Given the description of an element on the screen output the (x, y) to click on. 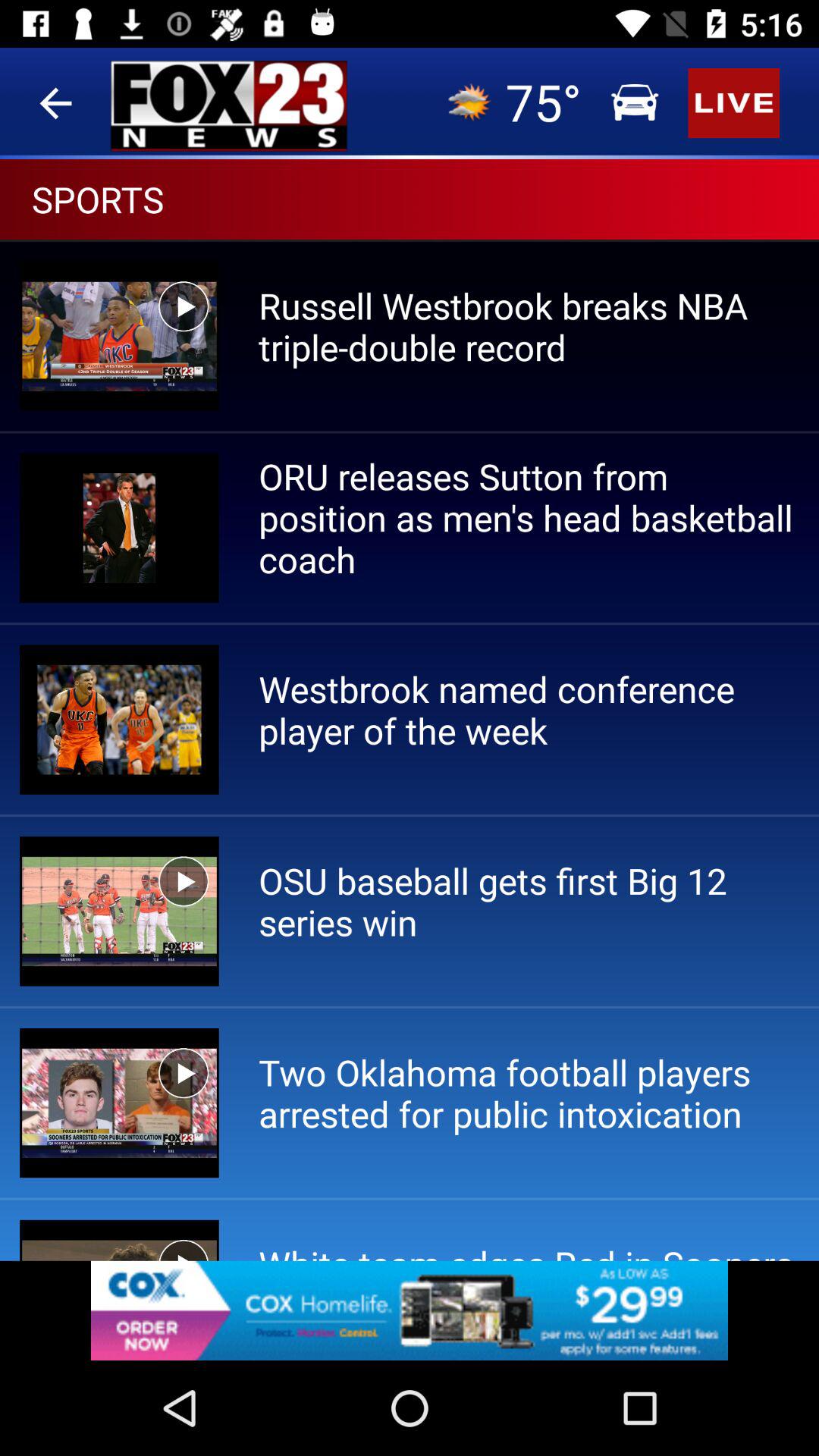
click on the image which is on the left side of westbrook named conference player of the week (119, 719)
select the live icon which is at the top right side of the page (409, 389)
